Given the description of an element on the screen output the (x, y) to click on. 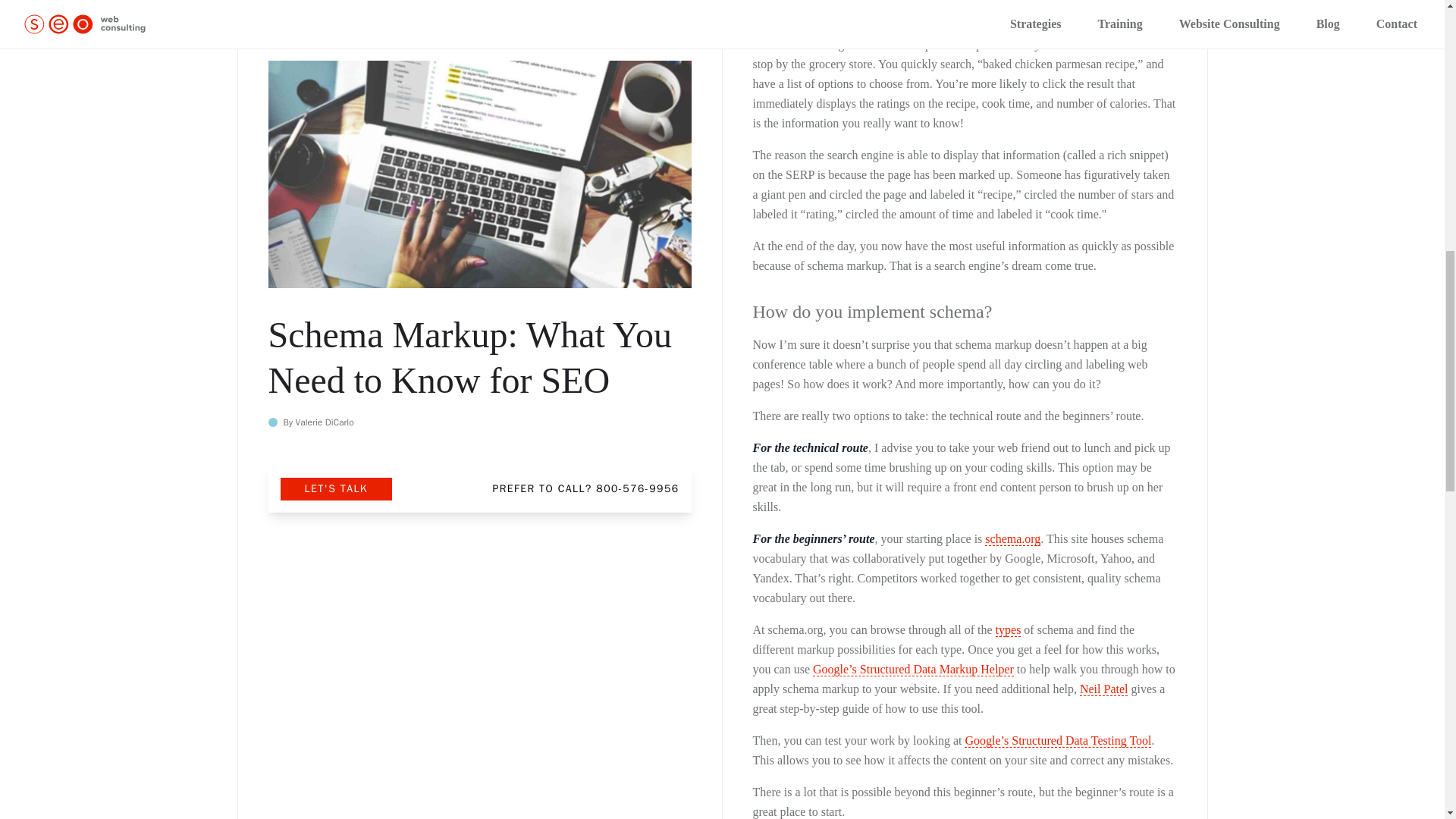
Neil Patel (1104, 689)
types (1008, 630)
schema.org (1013, 539)
